Given the description of an element on the screen output the (x, y) to click on. 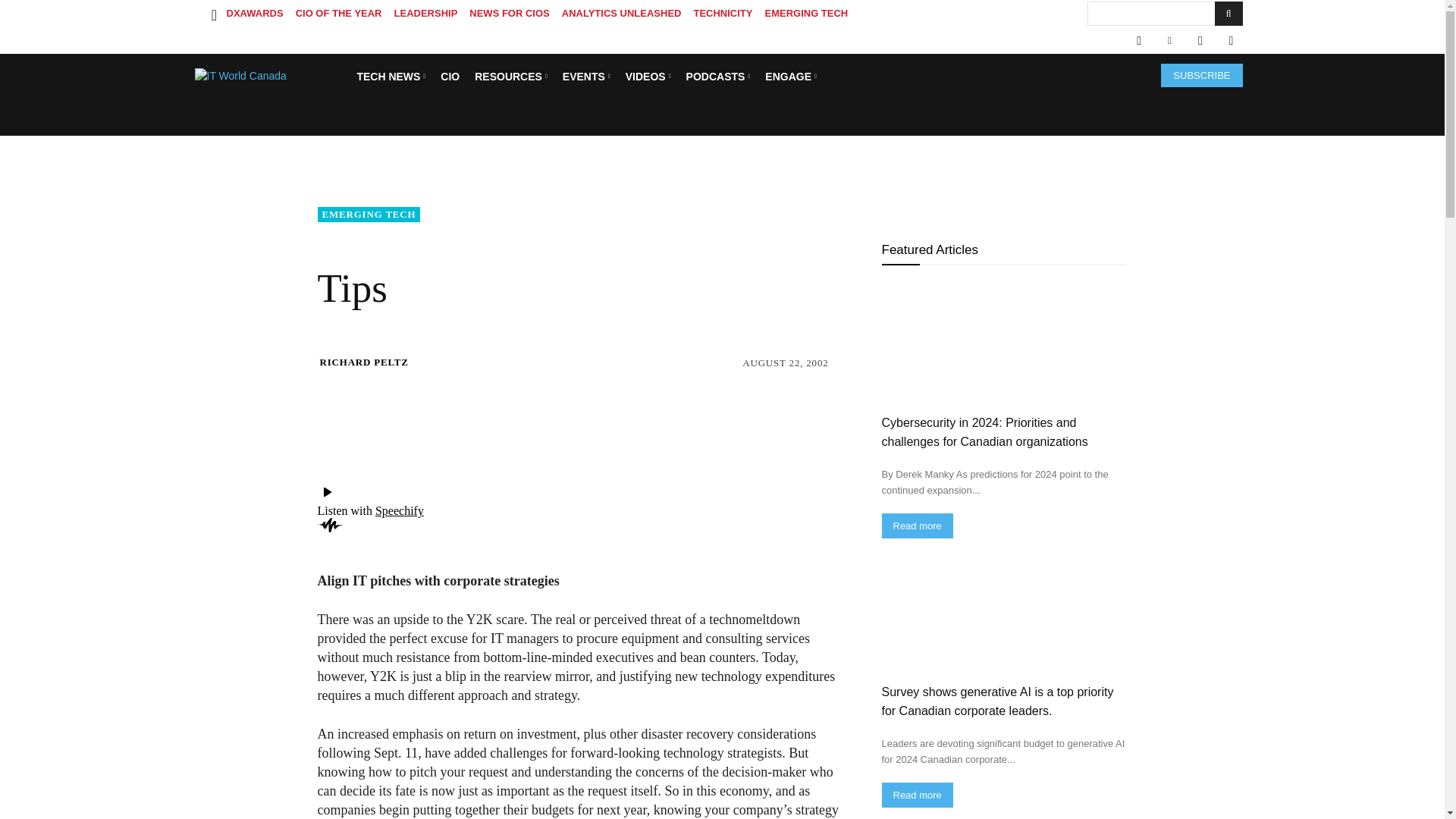
Twitter (1200, 40)
IT World Canada - IT News (269, 76)
Linkedin (1168, 40)
Facebook (1138, 40)
Youtube (1230, 40)
